Given the description of an element on the screen output the (x, y) to click on. 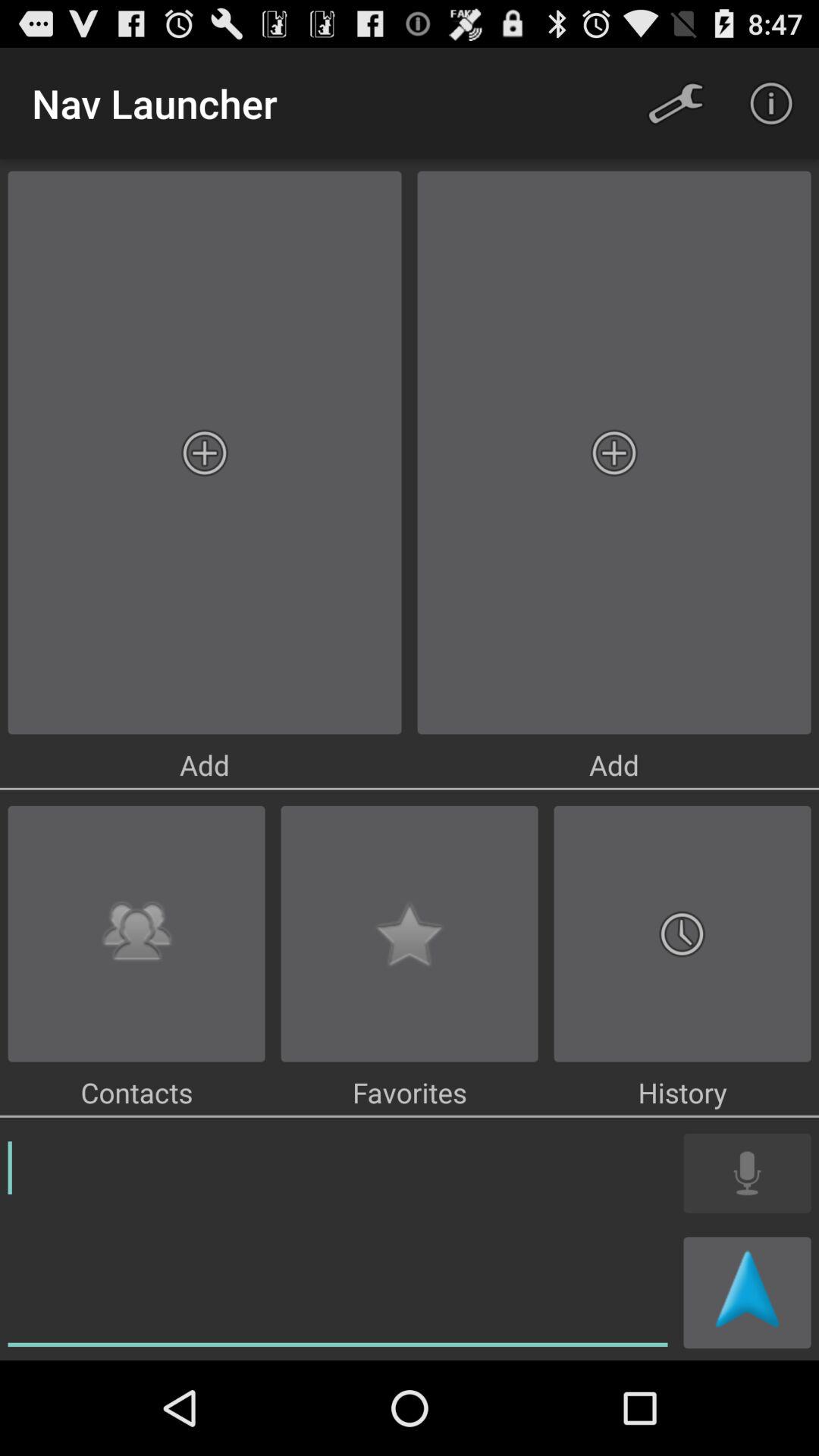
text entry (337, 1240)
